Given the description of an element on the screen output the (x, y) to click on. 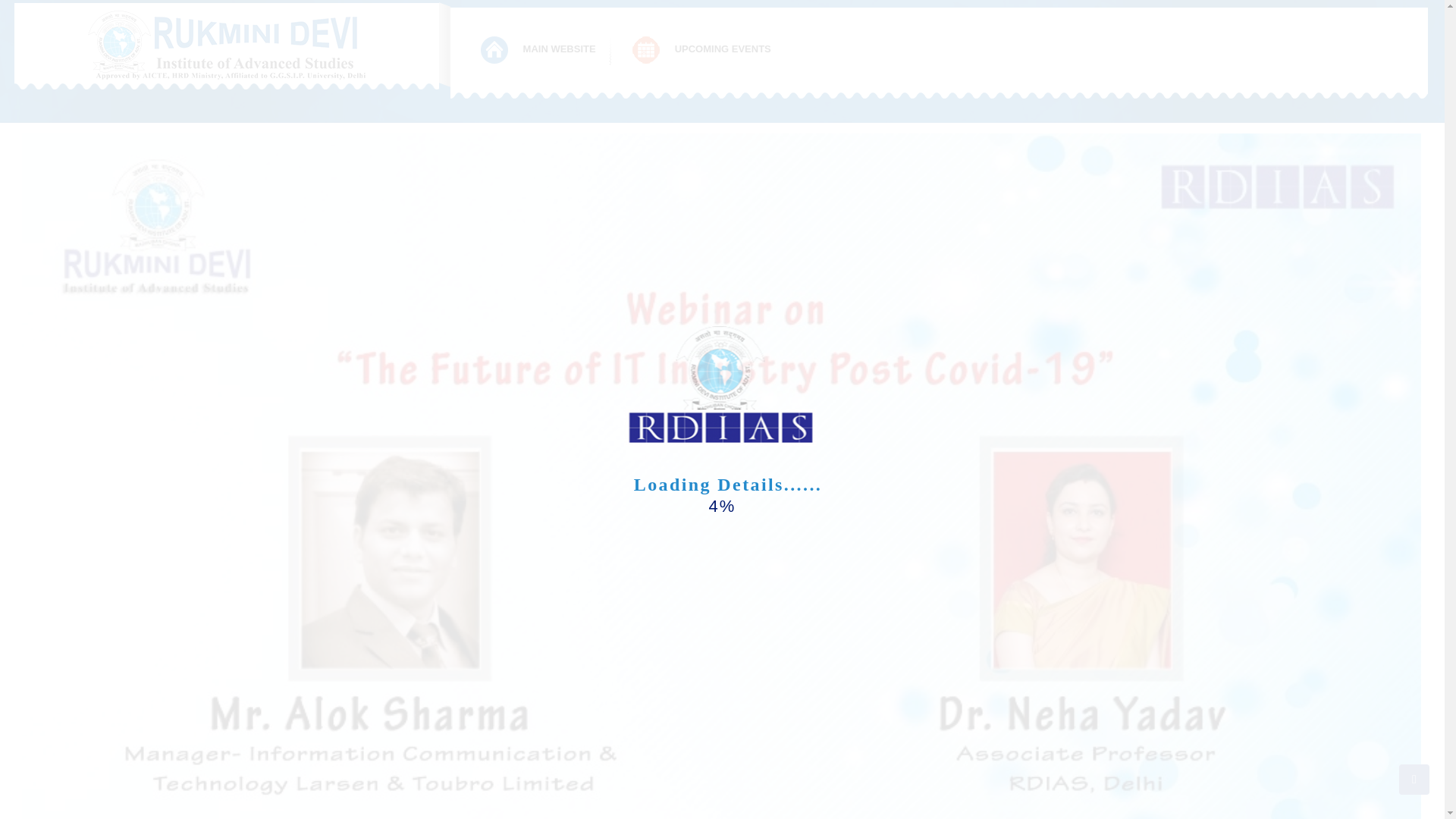
MAIN WEBSITE (539, 50)
UPCOMING EVENTS (703, 50)
